Given the description of an element on the screen output the (x, y) to click on. 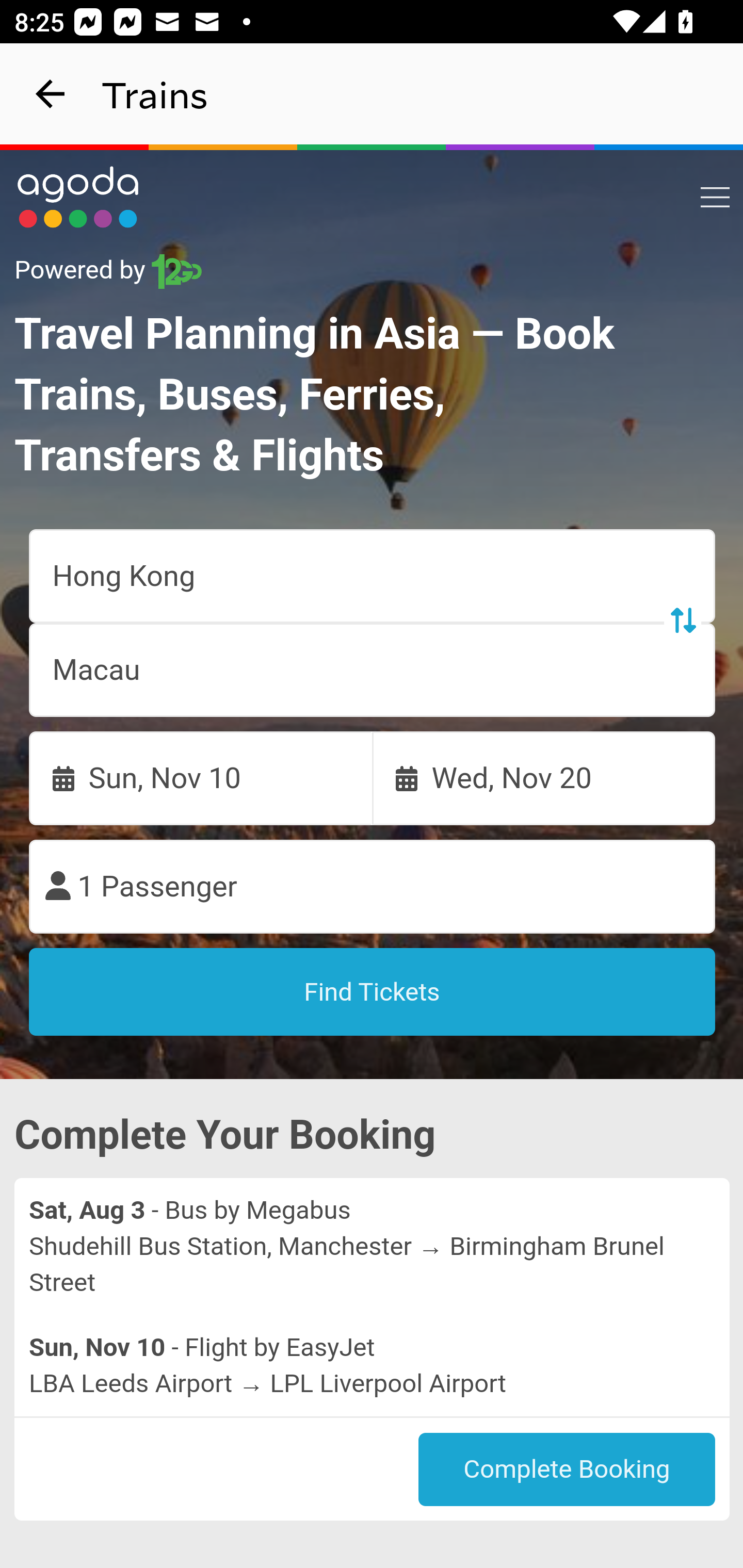
navigation_button (50, 93)
Link to main page 5418 (78, 197)
Hong Kong Swap trip points (372, 576)
Swap trip points (682, 619)
Macau (372, 670)
Sun, Nov 10 (200, 778)
Wed, Nov 20 (544, 778)
 1 Passenger (372, 887)
Find Tickets (372, 992)
Complete Booking (566, 1469)
